Given the description of an element on the screen output the (x, y) to click on. 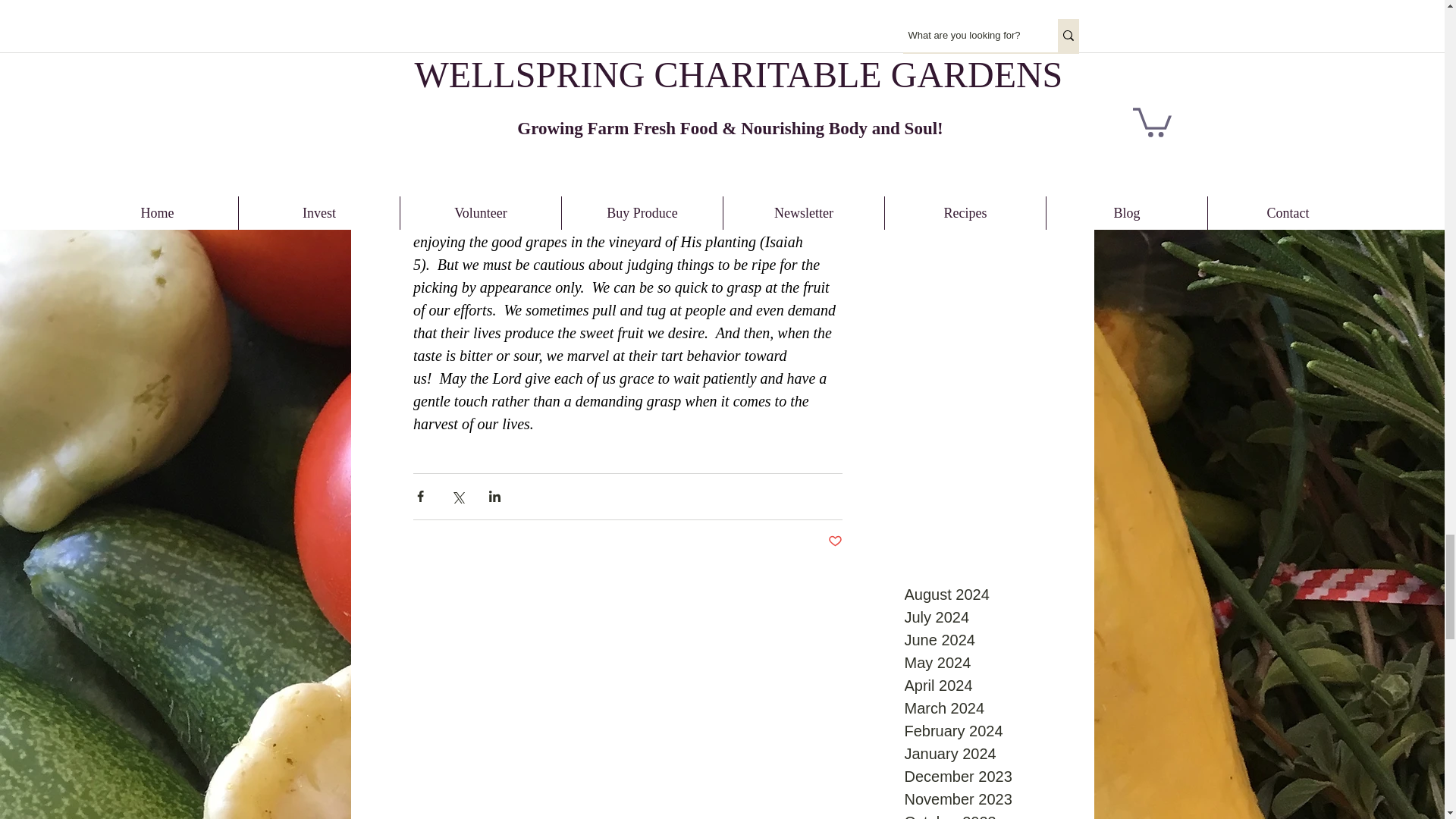
December 2023 (986, 775)
November 2023 (986, 798)
June 2024 (986, 639)
April 2024 (986, 685)
October 2023 (986, 814)
August 2024 (986, 594)
July 2024 (986, 617)
May 2024 (986, 662)
February 2024 (986, 730)
March 2024 (986, 707)
